Given the description of an element on the screen output the (x, y) to click on. 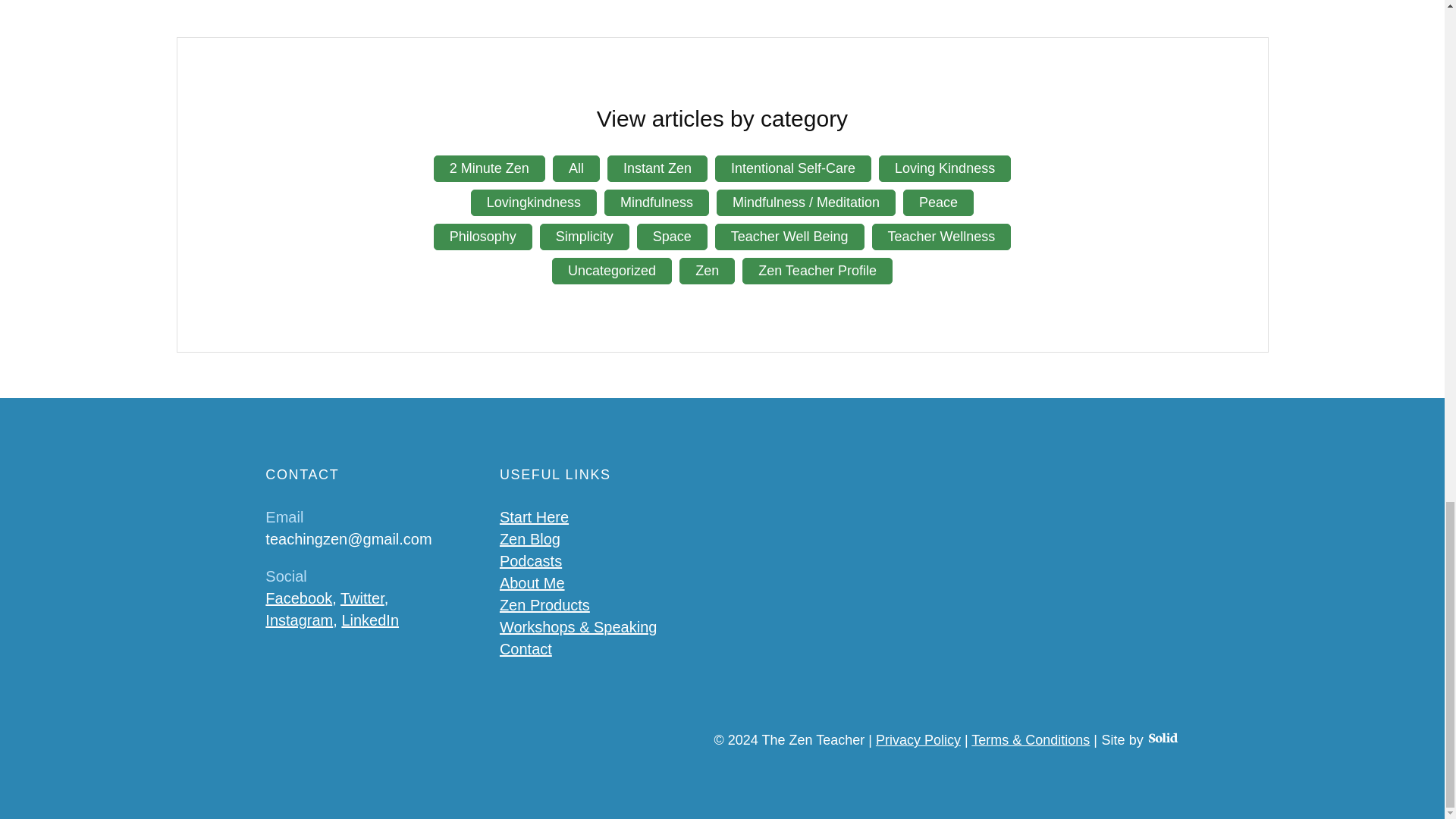
Zen Teacher Profile (817, 270)
Teacher Wellness (941, 236)
Peace (938, 202)
Lovingkindness (533, 202)
2 Minute Zen (488, 168)
Instant Zen (657, 168)
Simplicity (584, 236)
All (576, 168)
Loving Kindness (944, 168)
Facebook (297, 597)
